Given the description of an element on the screen output the (x, y) to click on. 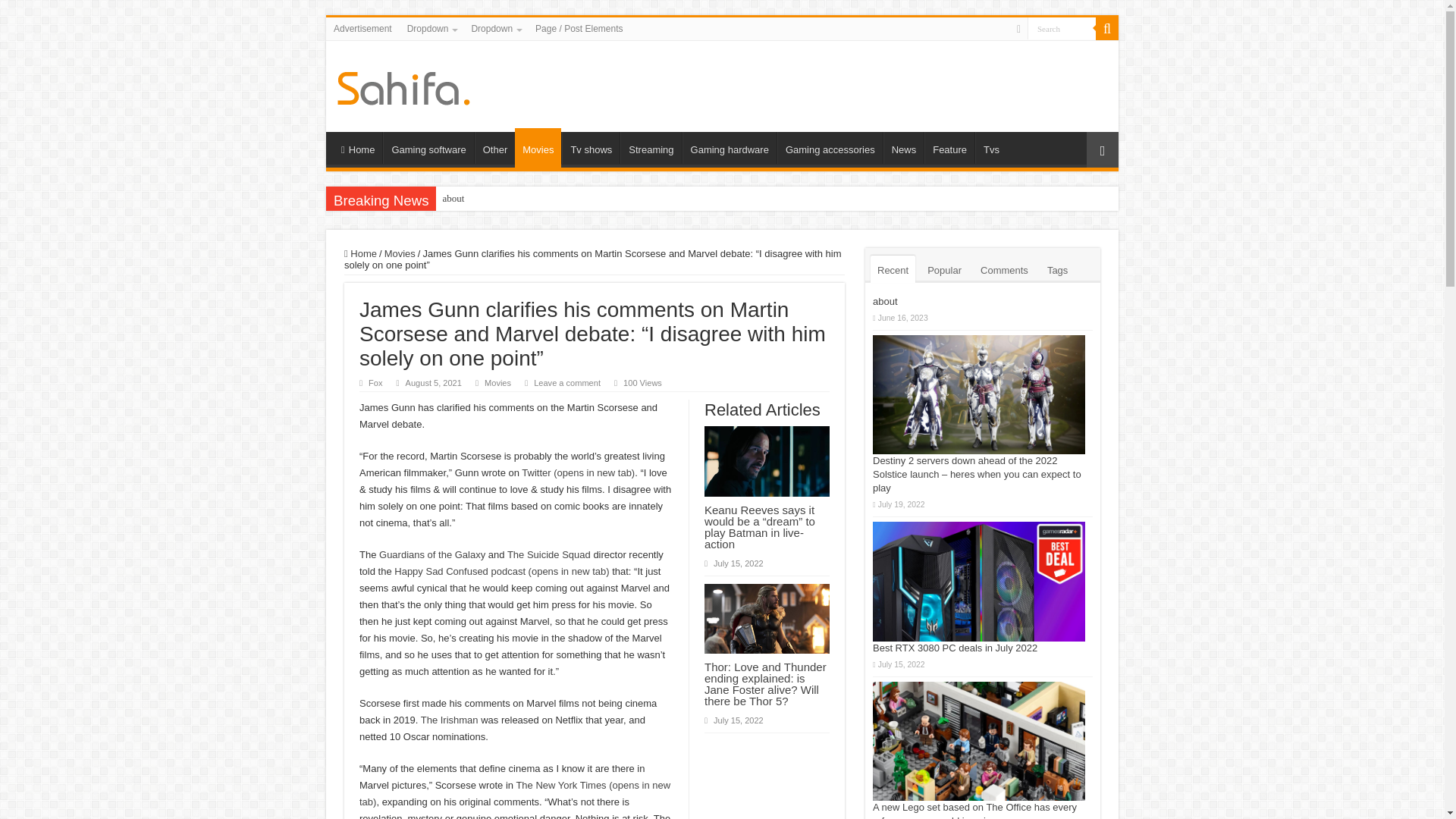
Search (1107, 28)
Search (1061, 28)
Dropdown (495, 28)
Search (1061, 28)
Game News (403, 85)
Movies (537, 147)
Other (494, 147)
Gaming accessories (829, 147)
Tv shows (591, 147)
Home (357, 147)
News (903, 147)
Search (1061, 28)
Gaming software (427, 147)
Gaming hardware (729, 147)
Advertisement (362, 28)
